Given the description of an element on the screen output the (x, y) to click on. 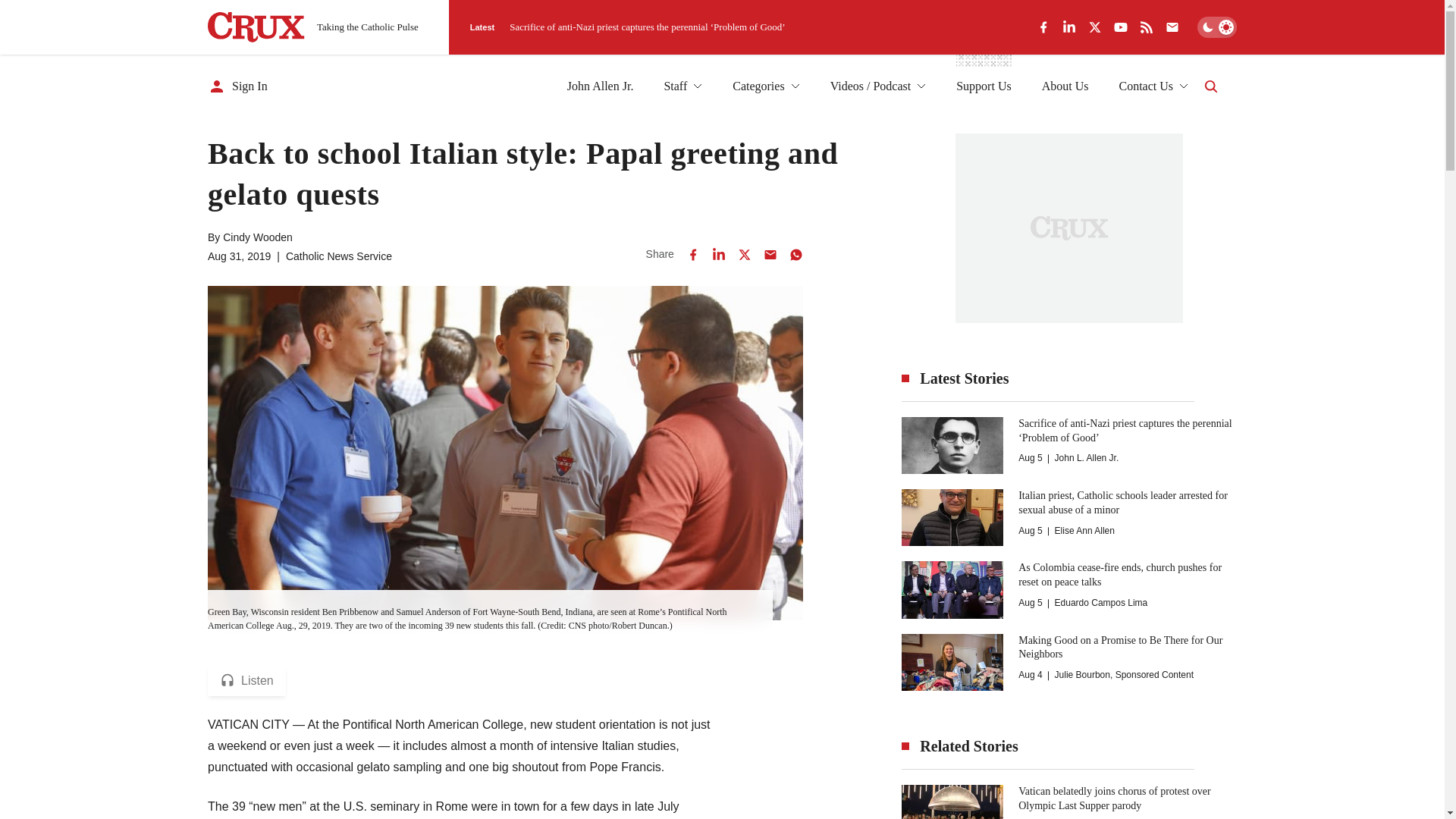
About Us (1065, 85)
Staff (682, 85)
Contact Us (1153, 85)
Support Us (983, 85)
Sign In (237, 85)
Categories (765, 85)
John Allen Jr. (600, 85)
